Given the description of an element on the screen output the (x, y) to click on. 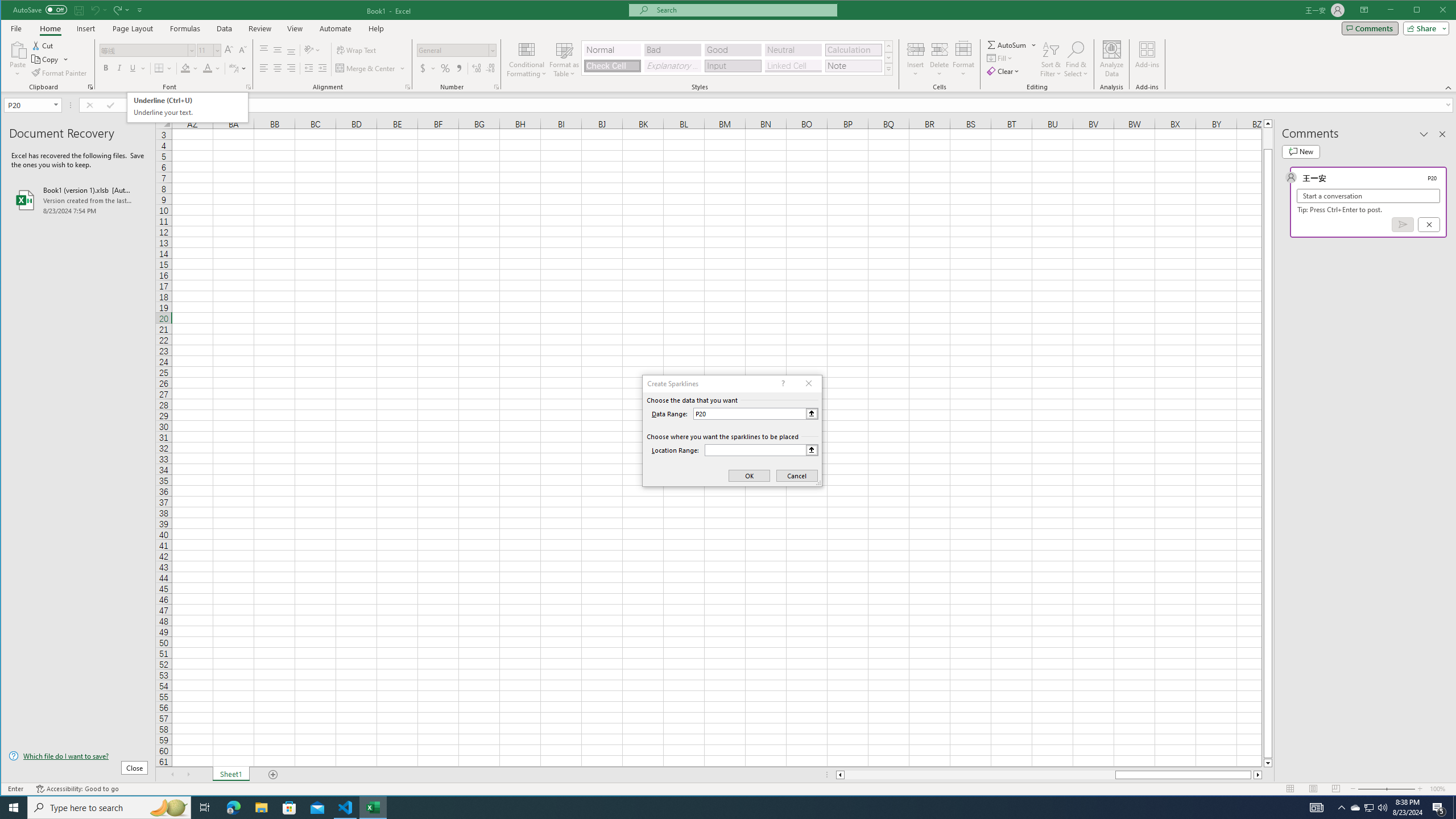
Post comment (Ctrl + Enter) (1402, 224)
Font Color RGB(255, 0, 0) (207, 68)
Format (963, 59)
Start a conversation (1368, 195)
Font (147, 49)
Center (276, 68)
Conditional Formatting (526, 59)
Align Right (291, 68)
